Given the description of an element on the screen output the (x, y) to click on. 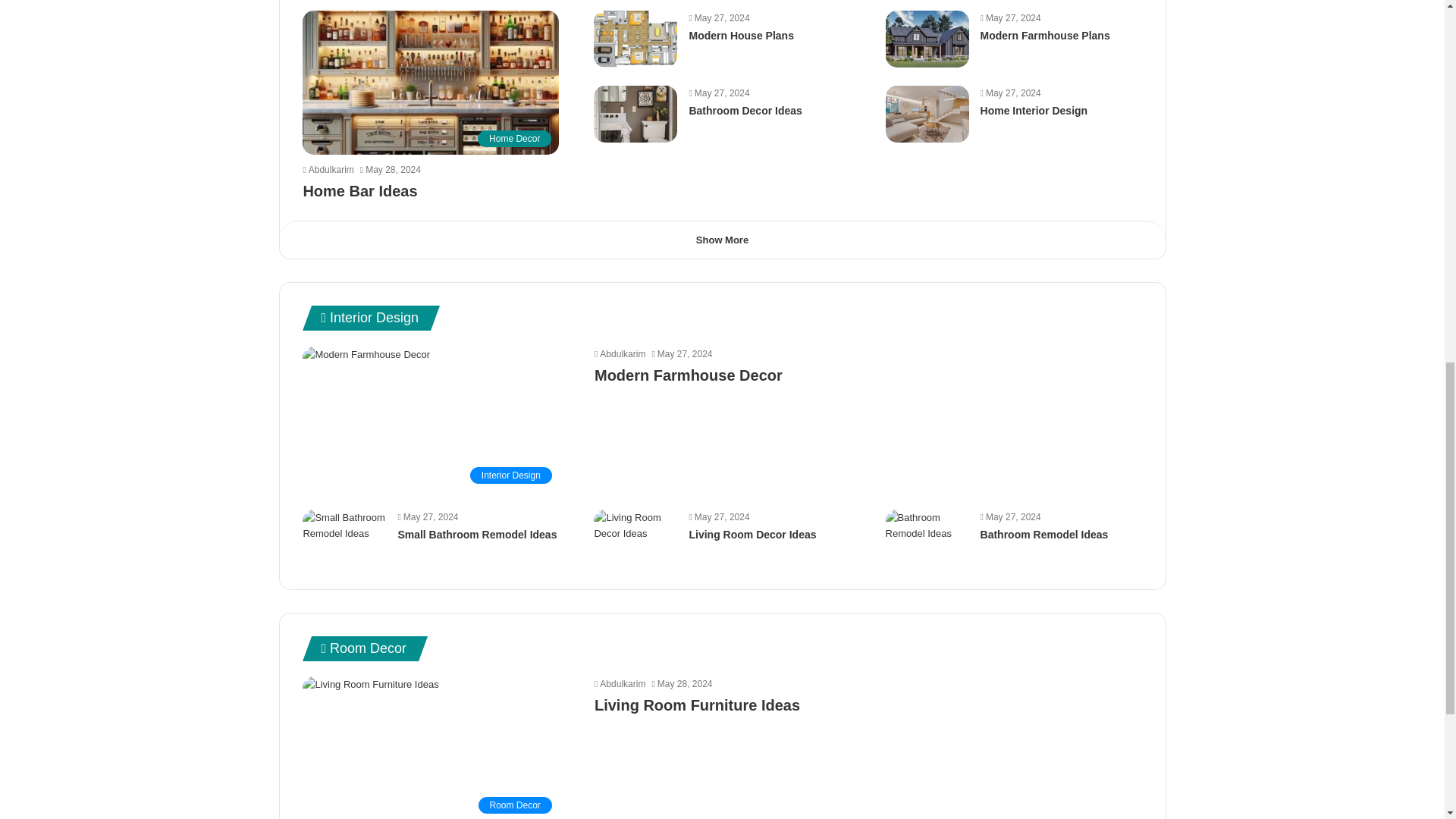
Abdulkarim (619, 353)
Abdulkarim (327, 169)
Abdulkarim (619, 683)
